Given the description of an element on the screen output the (x, y) to click on. 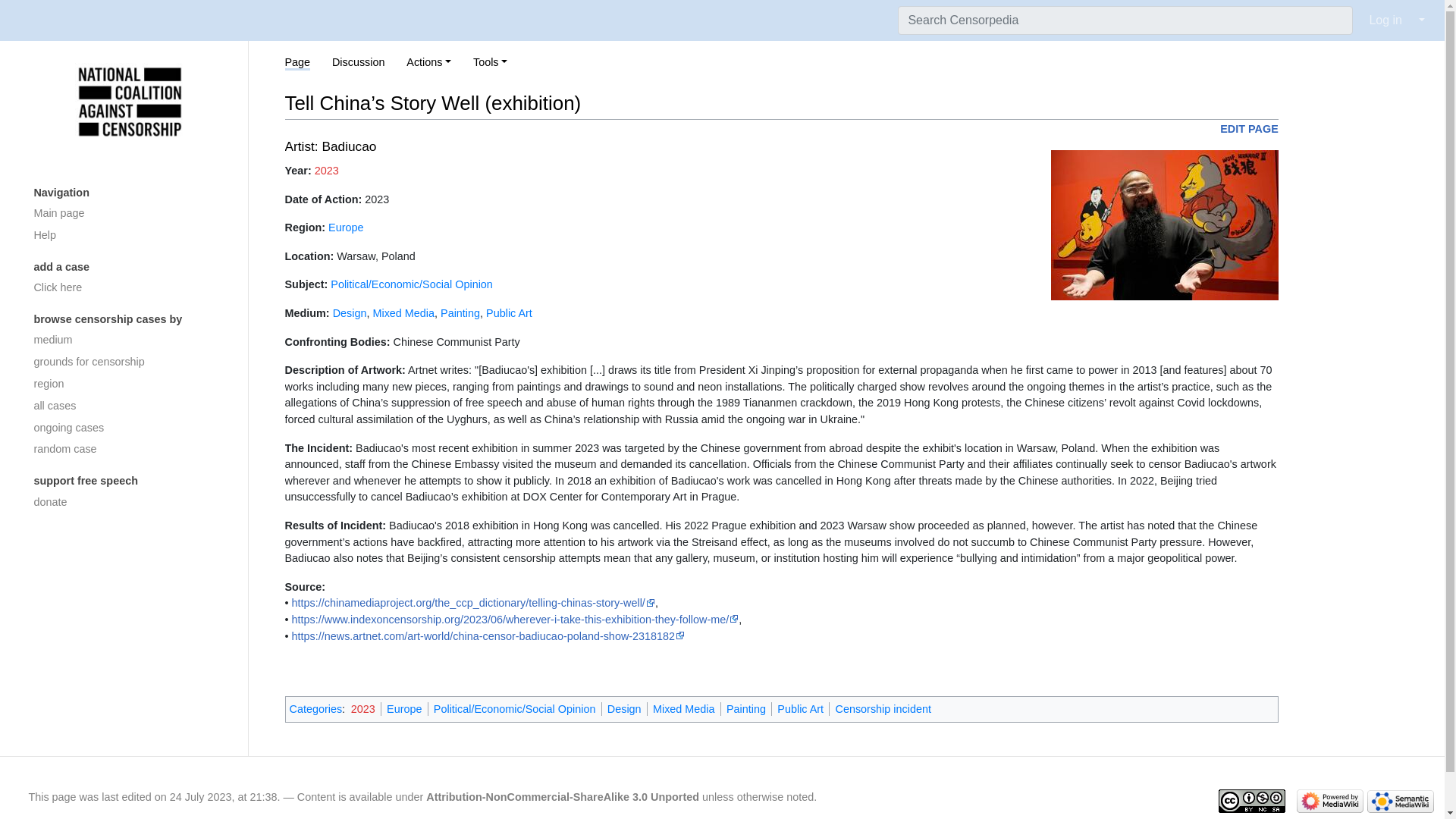
ongoing cases (129, 427)
donate (129, 502)
The place to find out (129, 235)
Click here (129, 287)
Navigation (129, 192)
Log in (1385, 20)
browse censorship cases by (129, 319)
Help (129, 235)
Tools (489, 61)
Actions (428, 61)
Discussion (358, 61)
Main page (129, 213)
region (129, 383)
Page (298, 63)
random case (129, 449)
